Given the description of an element on the screen output the (x, y) to click on. 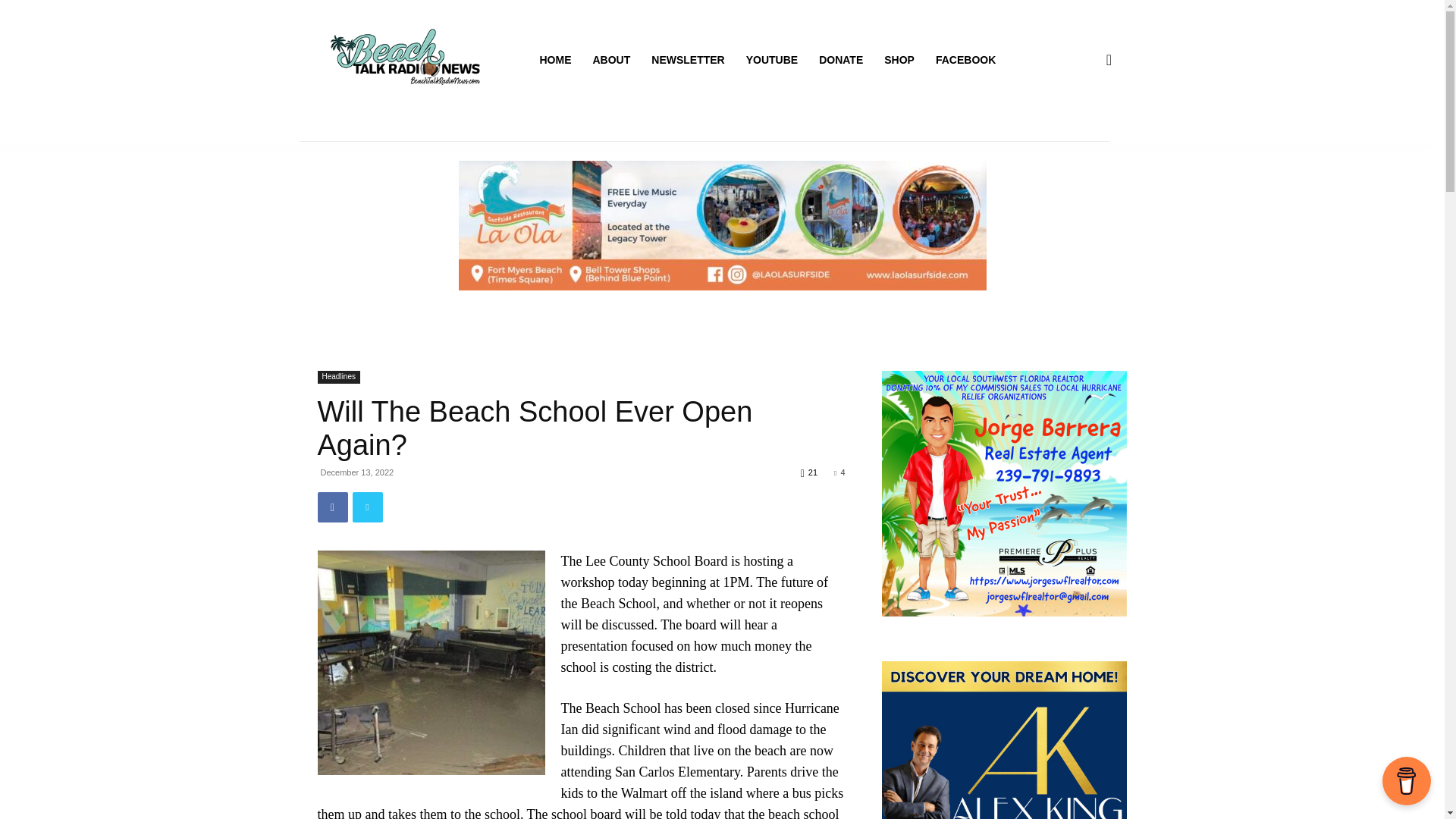
NEWSLETTER (687, 59)
FACEBOOK (965, 59)
YOUTUBE (771, 59)
HOME (555, 59)
Twitter (366, 507)
Facebook (332, 507)
SHOP (898, 59)
DONATE (840, 59)
4 (839, 471)
ABOUT (612, 59)
beach school (430, 662)
Headlines (338, 377)
